Given the description of an element on the screen output the (x, y) to click on. 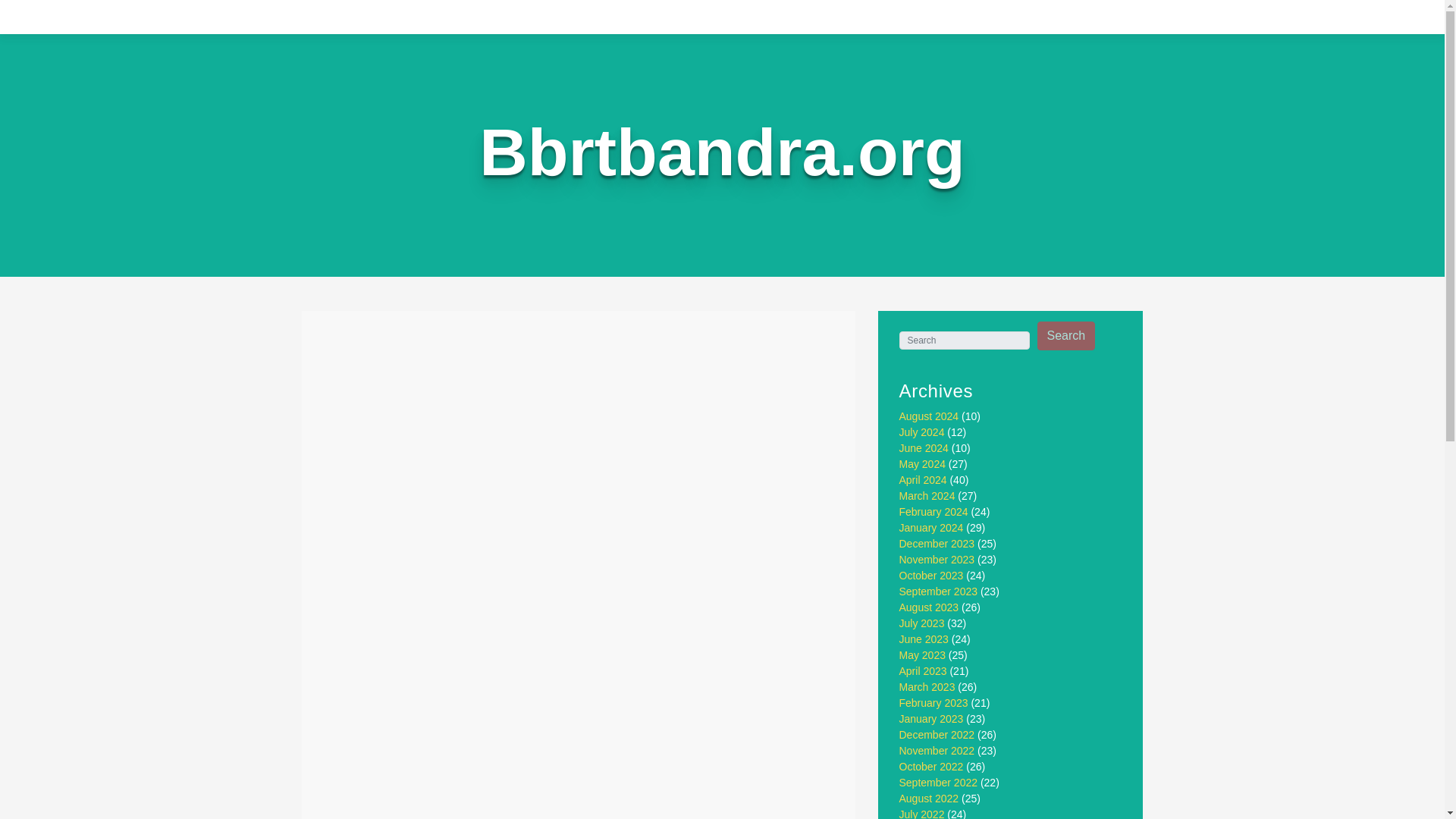
February 2023 (933, 702)
January 2023 (931, 718)
May 2024 (921, 463)
November 2023 (937, 559)
August 2023 (929, 607)
January 2024 (931, 527)
September 2022 (938, 782)
February 2024 (933, 511)
August 2022 (929, 798)
September 16, 2023 (436, 386)
